Given the description of an element on the screen output the (x, y) to click on. 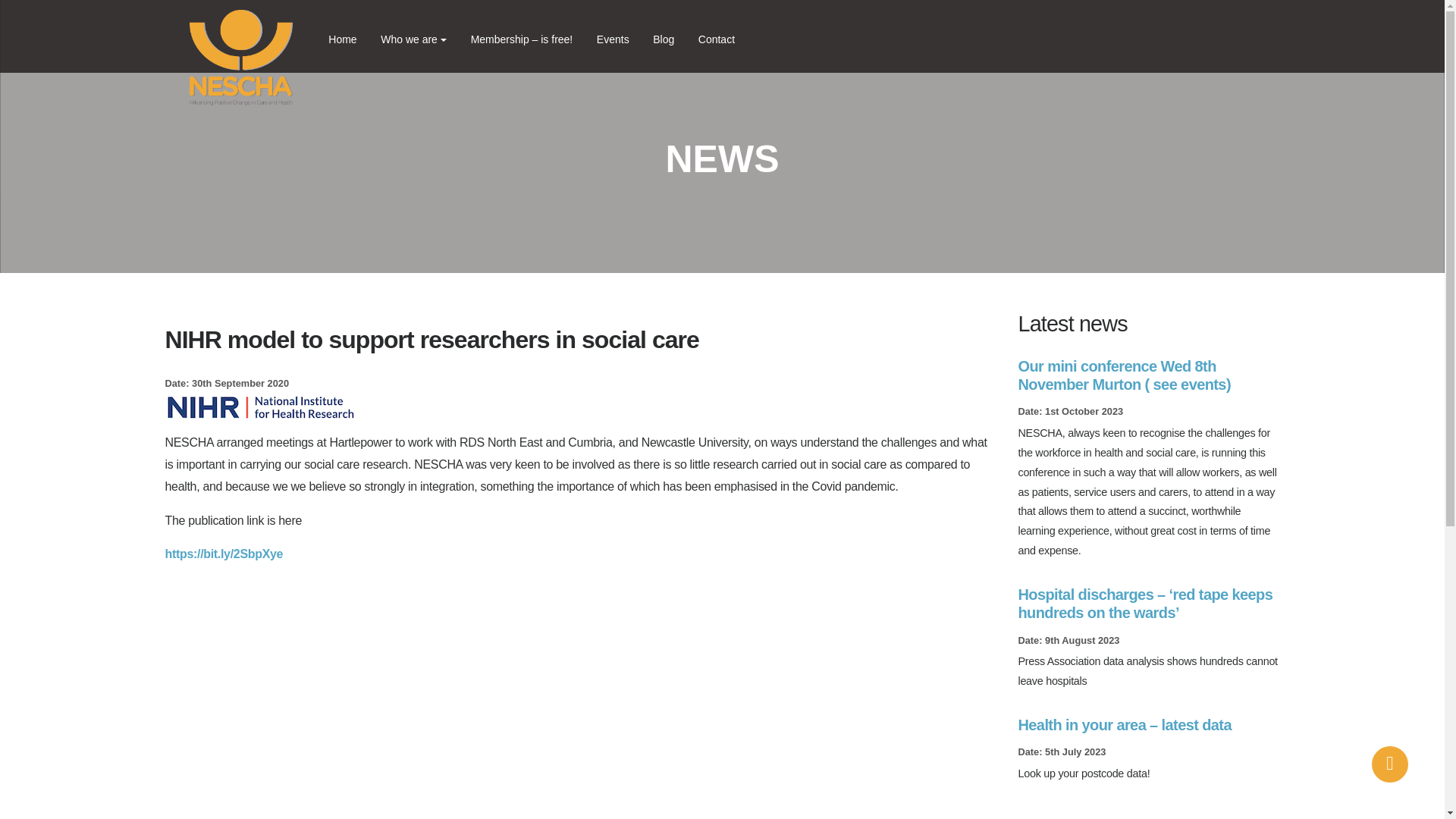
Events (612, 39)
NESCHA-Logo-0.1 (240, 57)
Blog (663, 39)
Home (342, 39)
Who we are (414, 39)
Contact (716, 39)
